Given the description of an element on the screen output the (x, y) to click on. 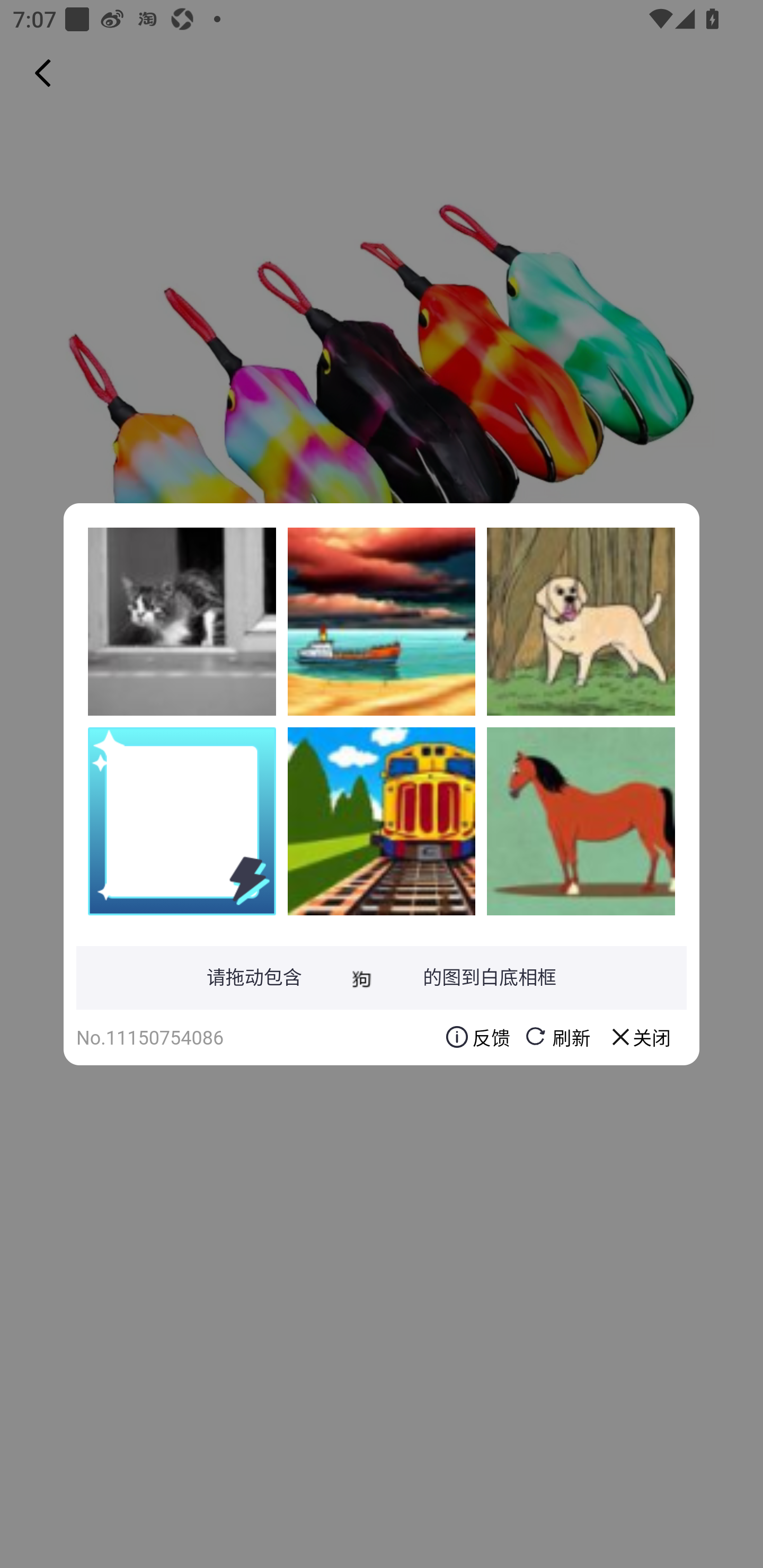
o5Ycj0 (181, 621)
dnQTF6YP4OcVk3 (381, 621)
+3W4sho (580, 621)
rQRz44a8GyzIZeGW7DUQZPqJDsuD81gqYUL5b (381, 820)
i5pbFdCSz8afYueheNlp55OYEqp44EJ (580, 820)
